Given the description of an element on the screen output the (x, y) to click on. 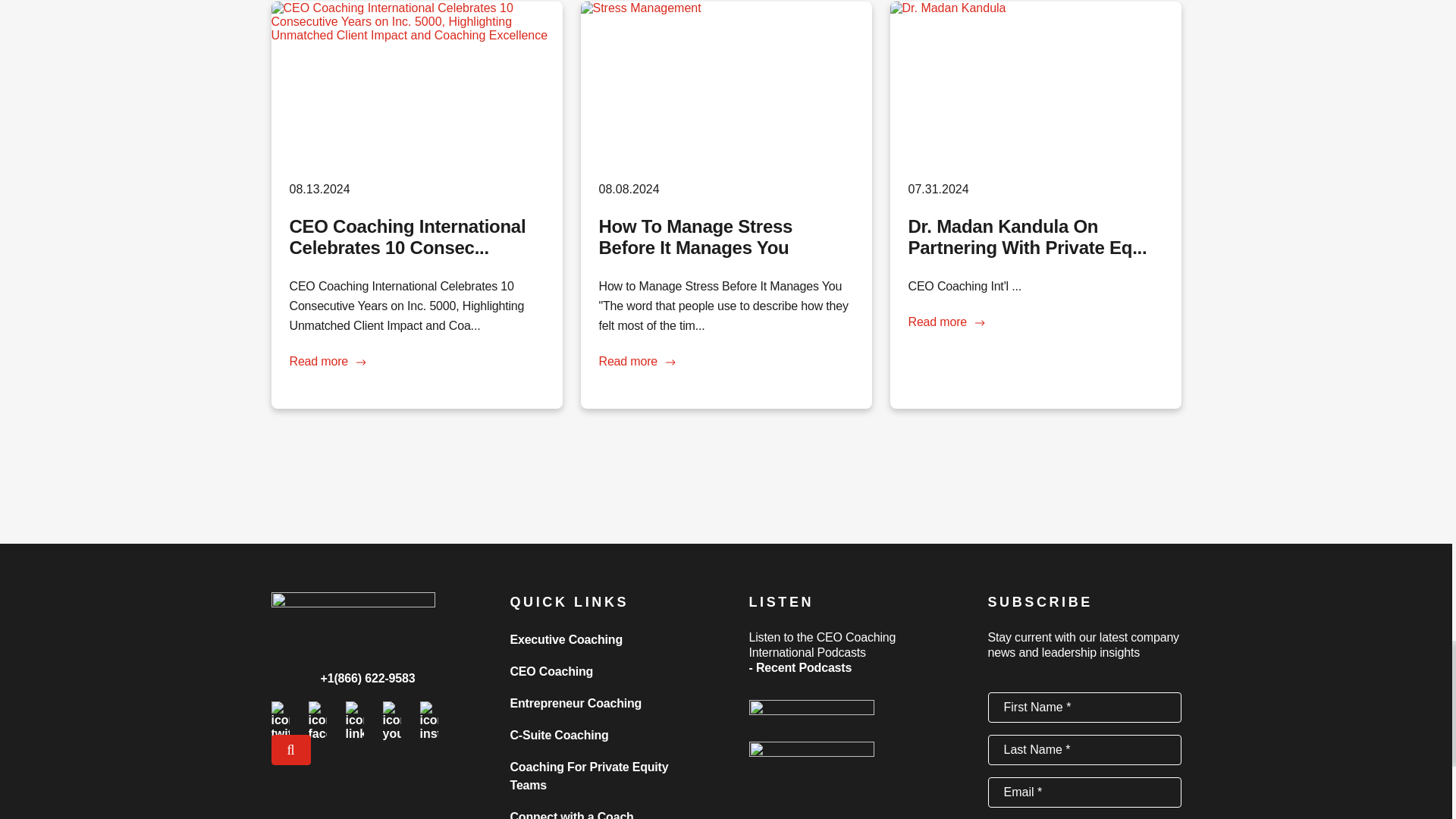
CEO Coaching (550, 671)
C-Suite Coaching (558, 735)
Executive Coaching (565, 639)
Coaching For Private Equity Teams (588, 775)
Entrepreneur Coaching (575, 703)
Connect with a Coach (571, 814)
